Given the description of an element on the screen output the (x, y) to click on. 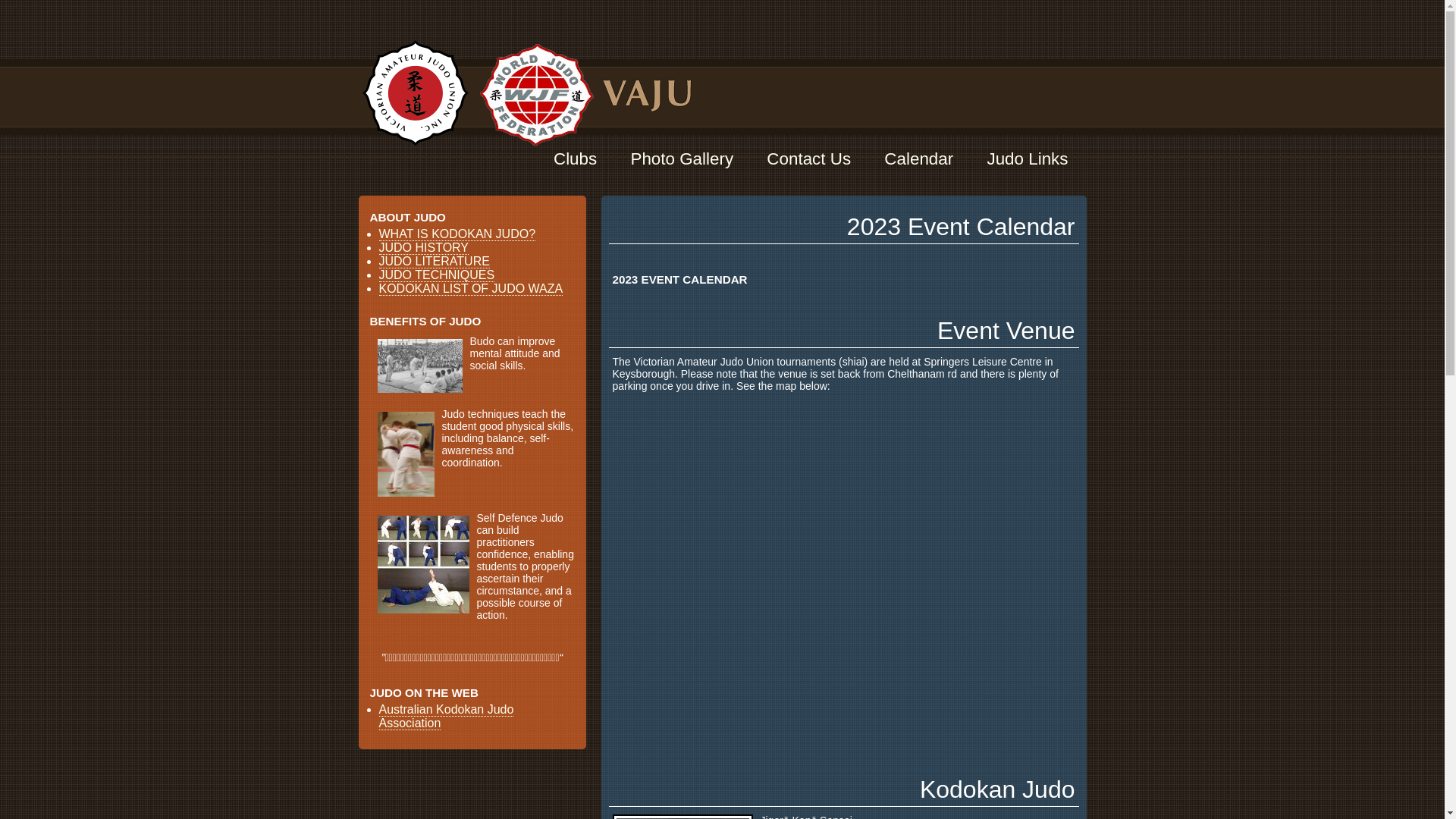
Australian Kodokan Judo Association Element type: text (446, 716)
2023 EVENT CALENDAR Element type: text (843, 286)
Calendar Element type: text (918, 158)
WHAT IS KODOKAN JUDO? Element type: text (457, 234)
Photo Gallery Element type: text (681, 158)
Clubs Element type: text (574, 158)
Contact Us Element type: text (808, 158)
KODOKAN LIST OF JUDO WAZA Element type: text (471, 288)
JUDO TECHNIQUES Element type: text (437, 275)
JUDO LITERATURE Element type: text (434, 261)
Judo Links Element type: text (1026, 158)
JUDO HISTORY Element type: text (424, 247)
